Given the description of an element on the screen output the (x, y) to click on. 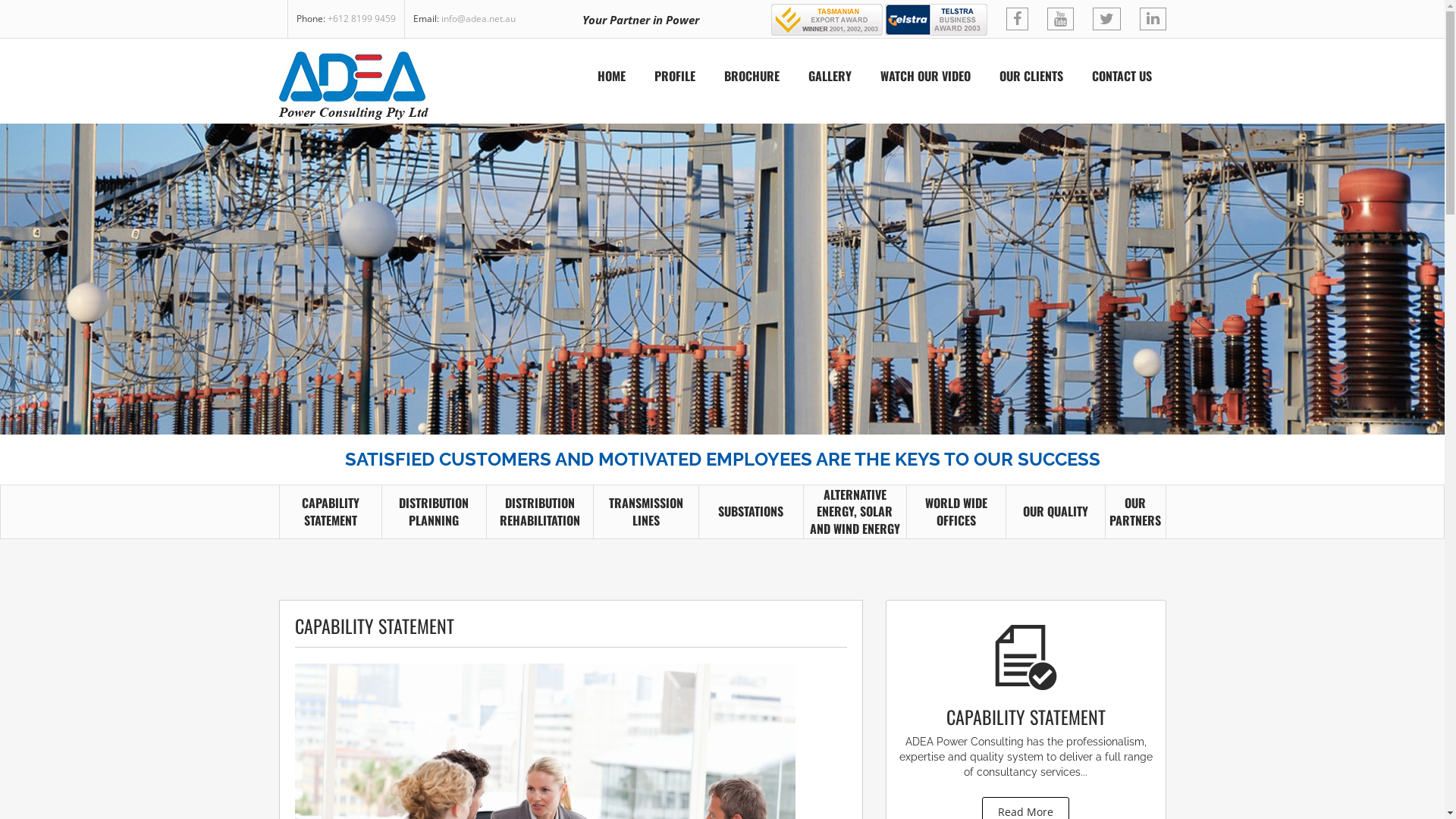
HOME Element type: text (610, 76)
CONTACT US Element type: text (1120, 76)
SUBSTATIONS Element type: text (750, 511)
DISTRIBUTION REHABILITATION Element type: text (539, 511)
GALLERY Element type: text (829, 76)
TRANSMISSION LINES Element type: text (645, 511)
BROCHURE Element type: text (751, 76)
OUR PARTNERS Element type: text (1135, 511)
PROFILE Element type: text (674, 76)
+612 8199 9459 Element type: text (361, 18)
OUR QUALITY Element type: text (1055, 511)
ALTERNATIVE ENERGY, SOLAR AND WIND ENERGY Element type: text (855, 512)
OUR CLIENTS Element type: text (1030, 76)
DISTRIBUTION PLANNING Element type: text (433, 511)
WATCH OUR VIDEO Element type: text (925, 76)
info@adea.net.au Element type: text (478, 18)
WORLD WIDE OFFICES Element type: text (955, 511)
CAPABILITY STATEMENT Element type: text (330, 511)
